Given the description of an element on the screen output the (x, y) to click on. 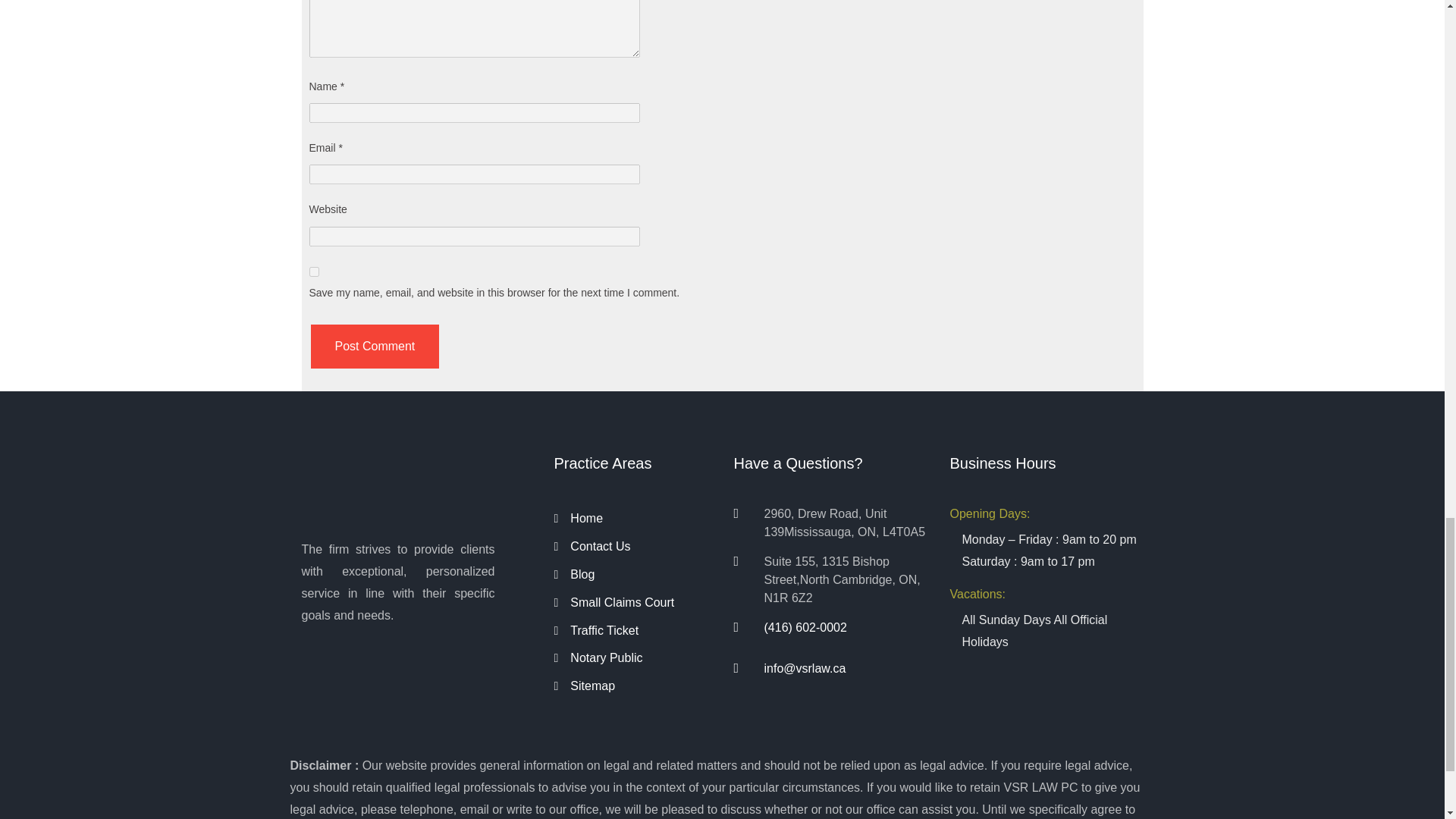
Post Comment (375, 346)
yes (313, 271)
